Given the description of an element on the screen output the (x, y) to click on. 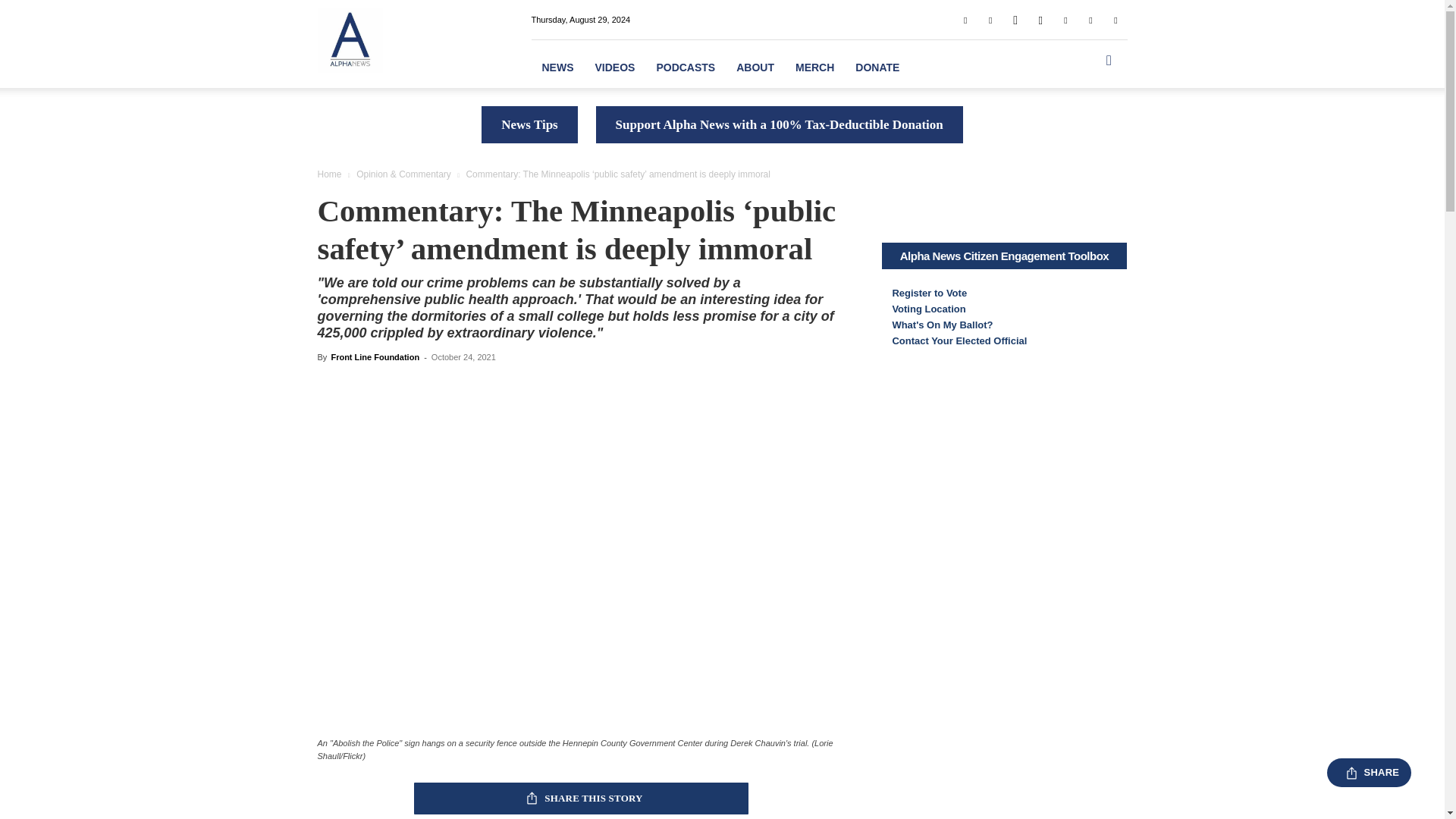
Facebook (964, 19)
Twitter (1090, 19)
Gab (989, 19)
Alpha News (349, 39)
NEWS (557, 67)
GETTR (1015, 19)
Instagram (1040, 19)
Telegram (1065, 19)
Youtube (1114, 19)
